Given the description of an element on the screen output the (x, y) to click on. 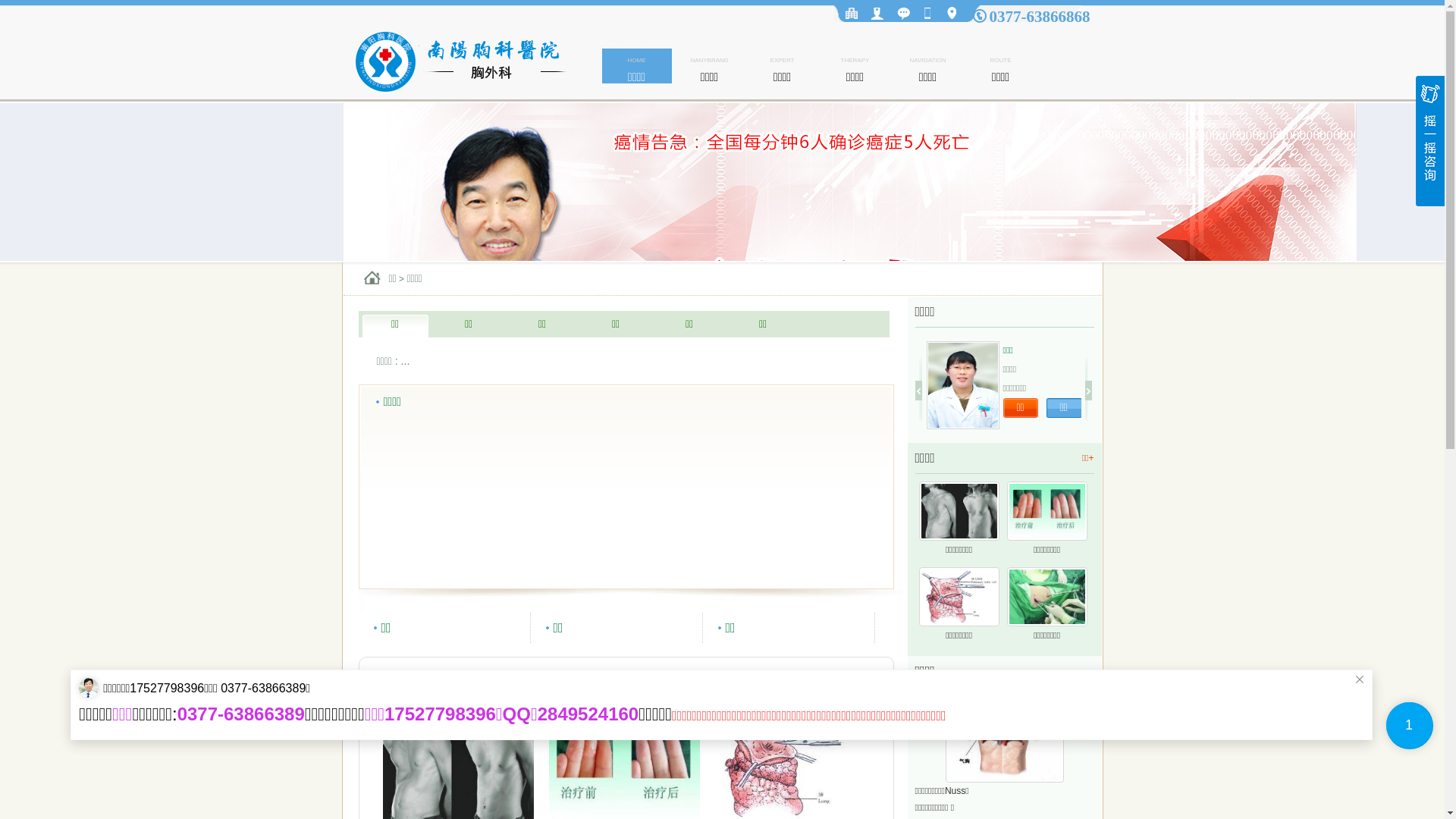
0377-63866868 Element type: text (1038, 16)
